Given the description of an element on the screen output the (x, y) to click on. 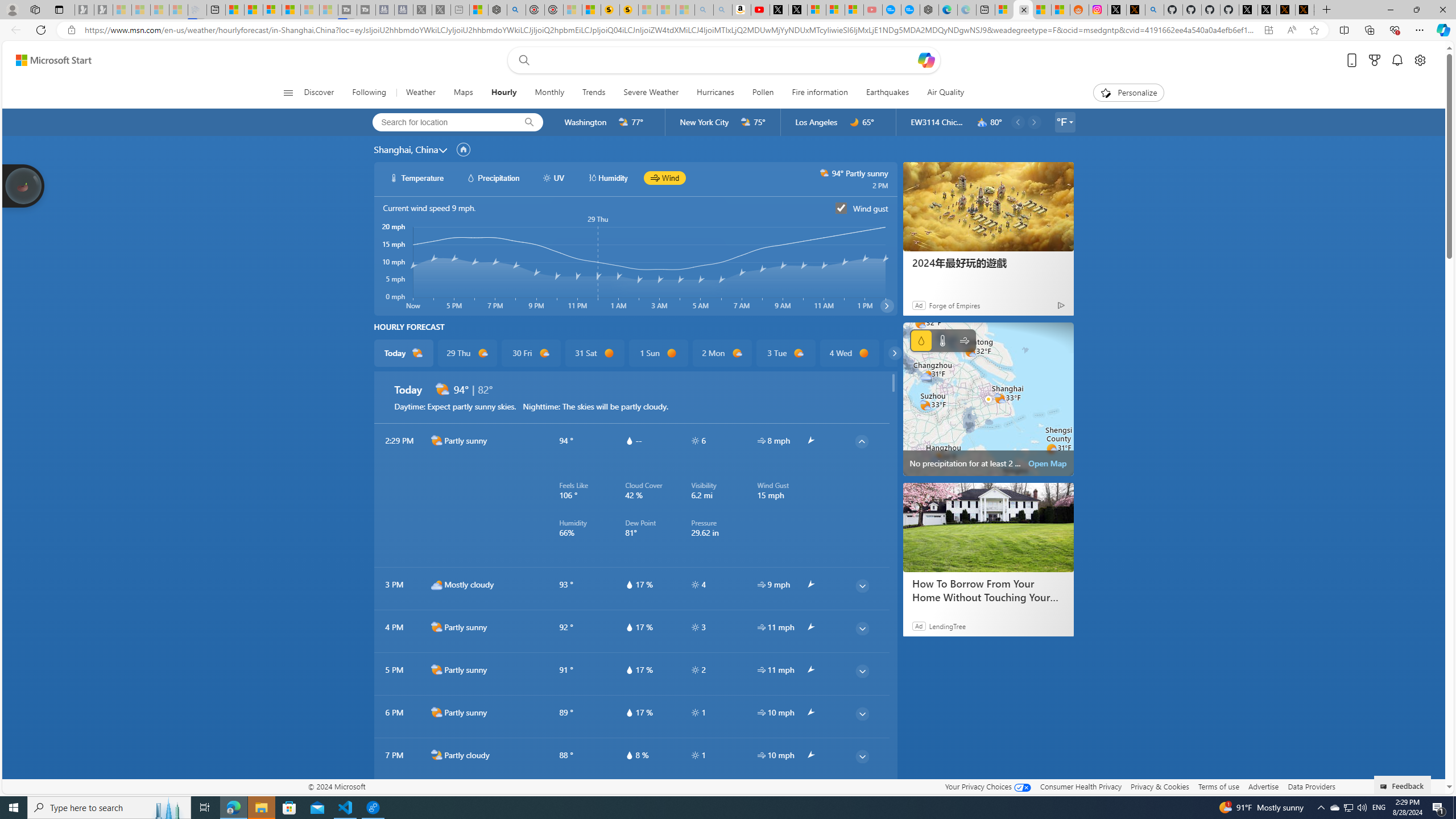
How To Borrow From Your Home Without Touching Your Mortgage (988, 527)
Open navigation menu (287, 92)
App available. Install Microsoft Start Weather (1268, 29)
Fire information (819, 92)
hourlyChart/humidityWhite (591, 177)
Amazon Echo Dot PNG - Search Images - Sleeping (722, 9)
5 Thu d1000 (913, 352)
Severe Weather (650, 92)
